Given the description of an element on the screen output the (x, y) to click on. 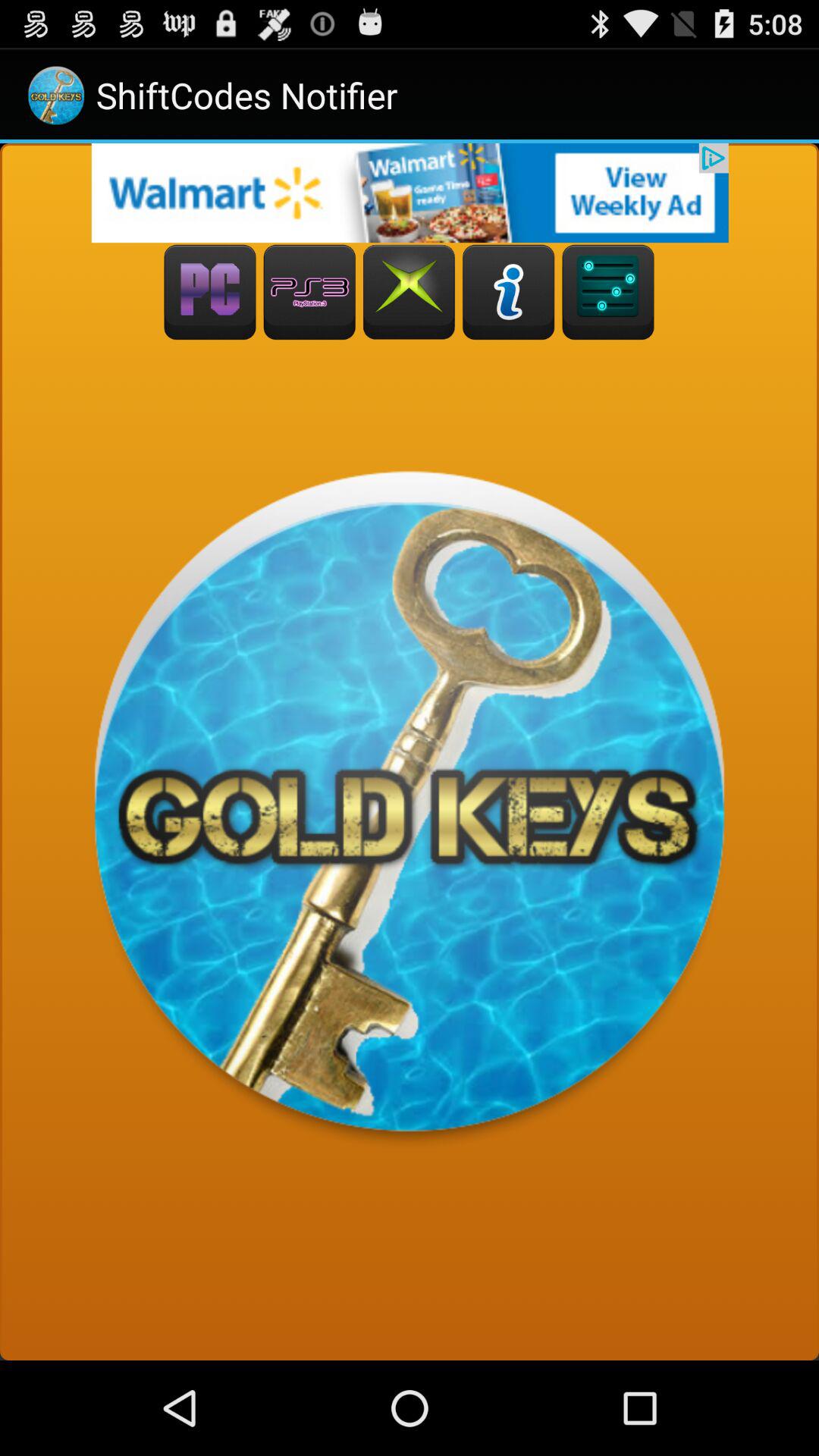
view the advertisement (409, 192)
